Given the description of an element on the screen output the (x, y) to click on. 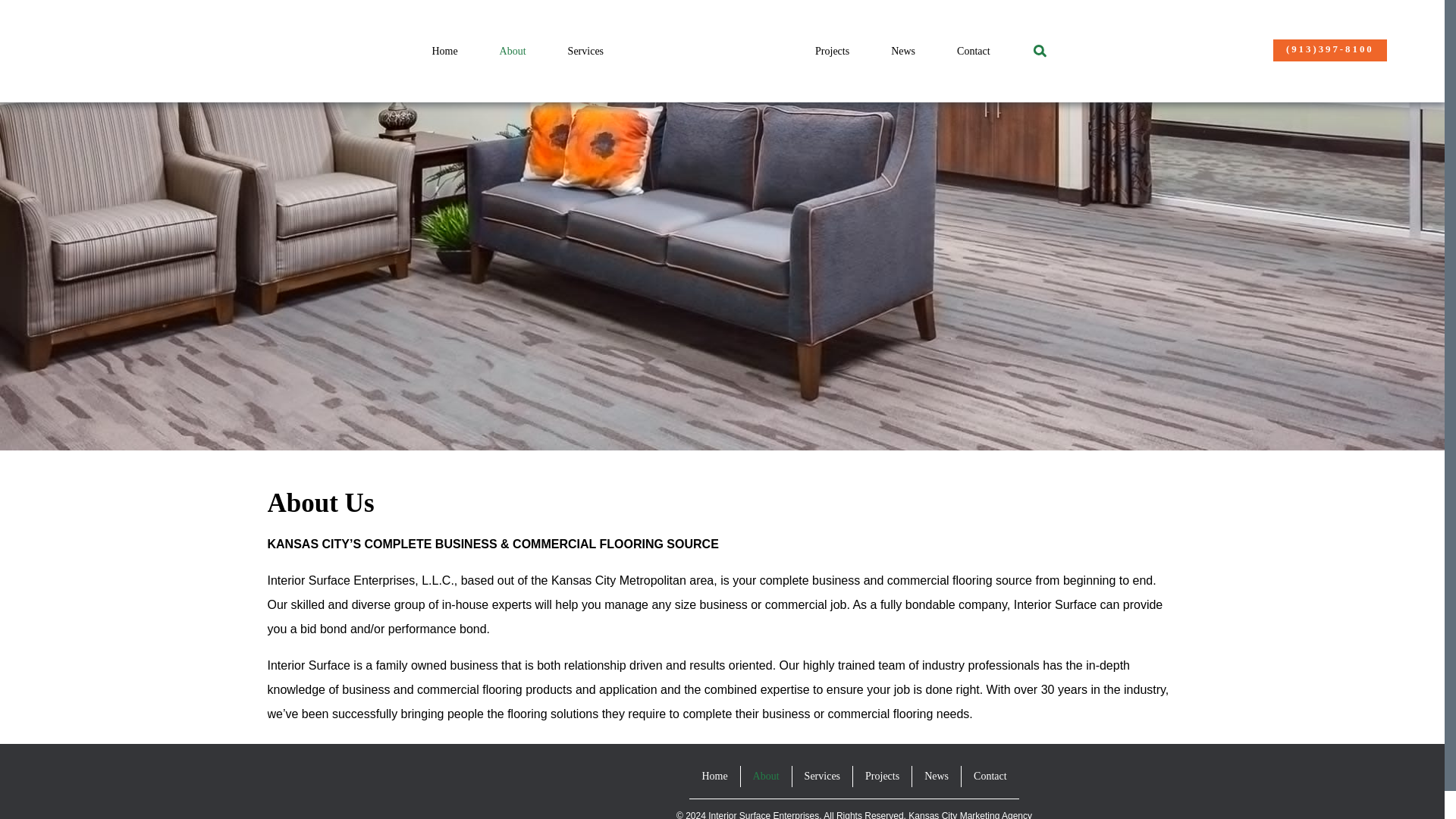
Projects (831, 50)
News (903, 50)
Search This Site (1040, 50)
Home (444, 50)
Contact (973, 50)
Services (584, 50)
About (512, 50)
